Given the description of an element on the screen output the (x, y) to click on. 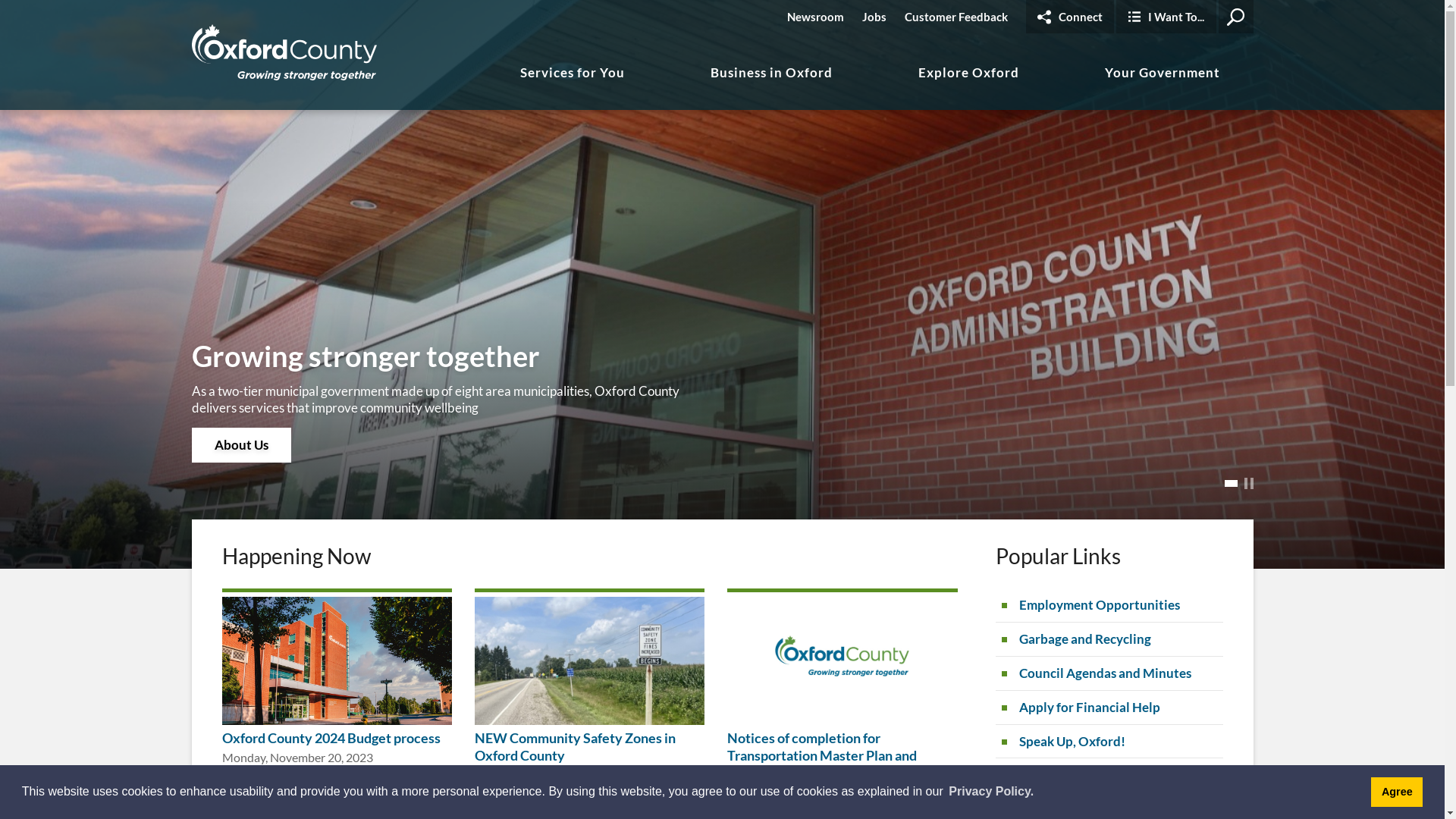
Studies & Construction Element type: text (1108, 774)
Privacy Policy. Element type: text (990, 791)
Jobs Element type: text (873, 16)
Connect Element type: text (1069, 16)
Apply for Financial Help Element type: text (1108, 707)
Speak Up, Oxford! Element type: text (1108, 741)
Skip to Content Element type: text (0, 0)
Agree Element type: text (1396, 791)
About Us Element type: text (240, 444)
I Want To... Element type: text (1166, 16)
Explore Oxford Element type: text (968, 86)
Business in Oxford Element type: text (771, 86)
NEW Community Safety Zones in Oxford County Element type: text (574, 746)
Garbage and Recycling Element type: text (1108, 638)
Your Government Element type: text (1162, 86)
Customer Feedback Element type: text (955, 16)
Oxford County 2024 Budget process Element type: text (330, 737)
Services for You Element type: text (572, 86)
Employment Opportunities Element type: text (1108, 604)
Newsroom Element type: text (815, 16)
Council Agendas and Minutes Element type: text (1108, 673)
